Given the description of an element on the screen output the (x, y) to click on. 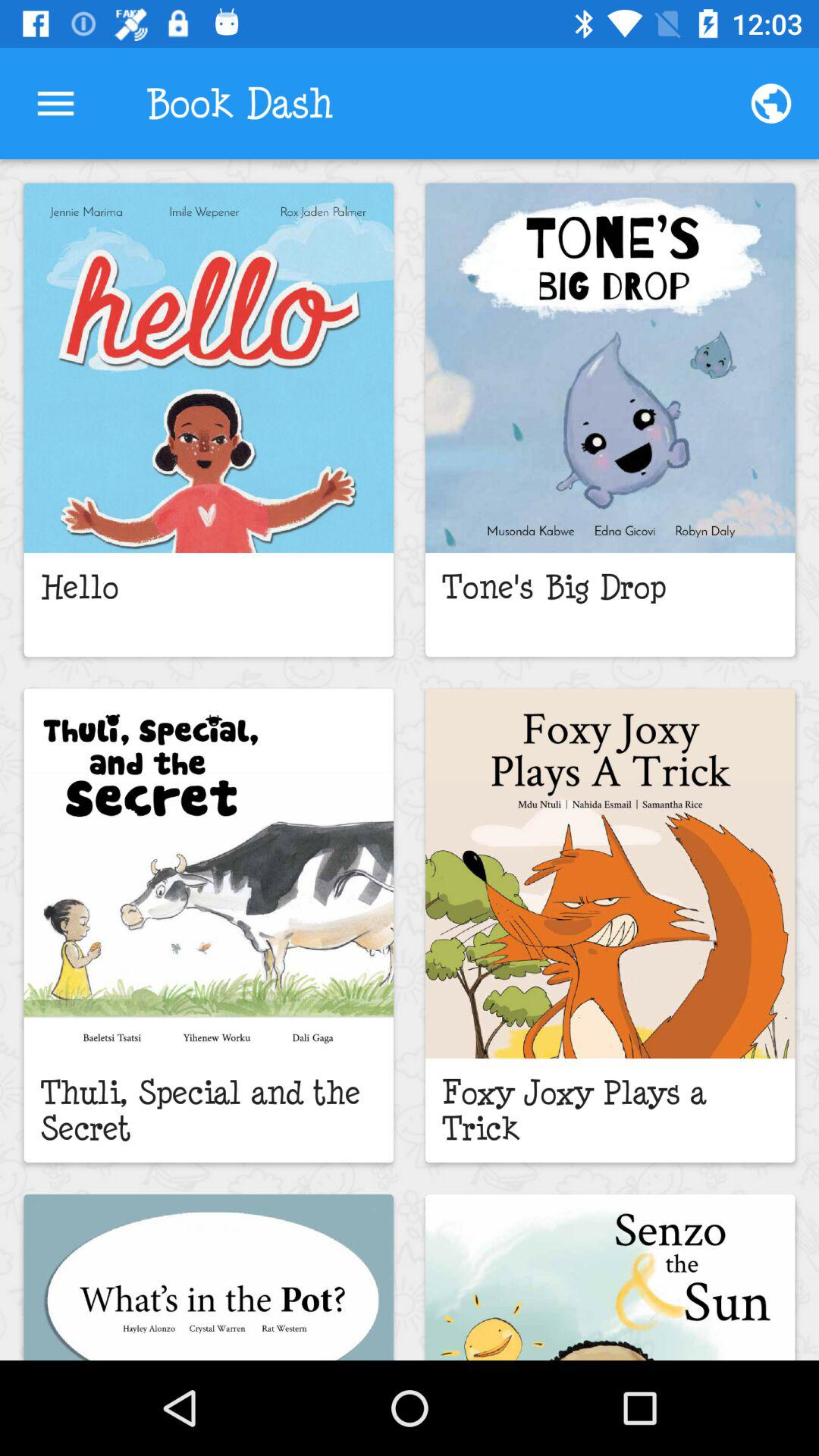
click icon next to the book dash (771, 103)
